Given the description of an element on the screen output the (x, y) to click on. 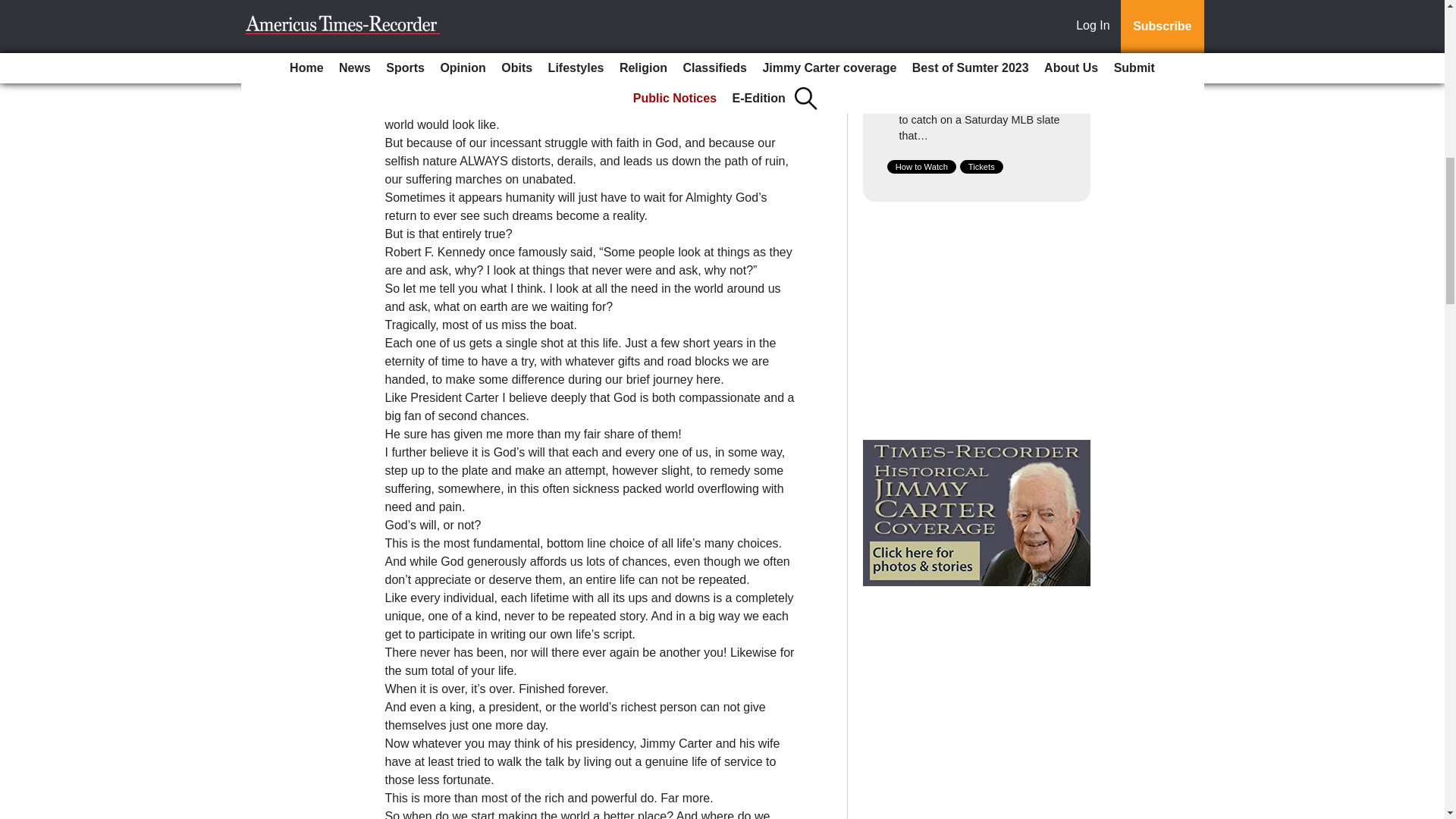
How to Watch (921, 166)
Tickets (981, 166)
